Given the description of an element on the screen output the (x, y) to click on. 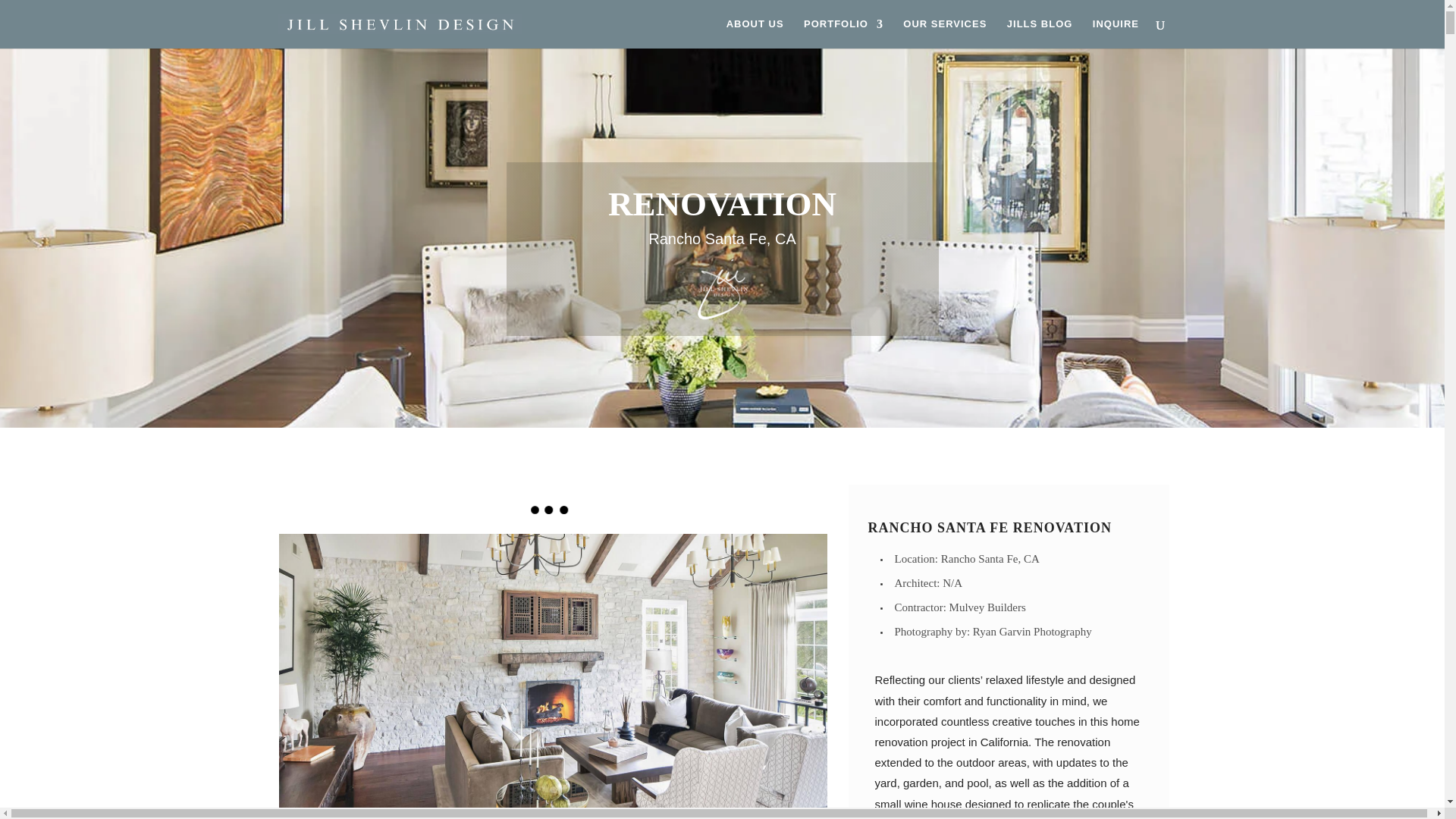
OUR SERVICES (944, 33)
INQUIRE (1115, 33)
JILLS BLOG (1040, 33)
ABOUT US (755, 33)
jill-white-logo (722, 289)
PORTFOLIO (843, 33)
